Given the description of an element on the screen output the (x, y) to click on. 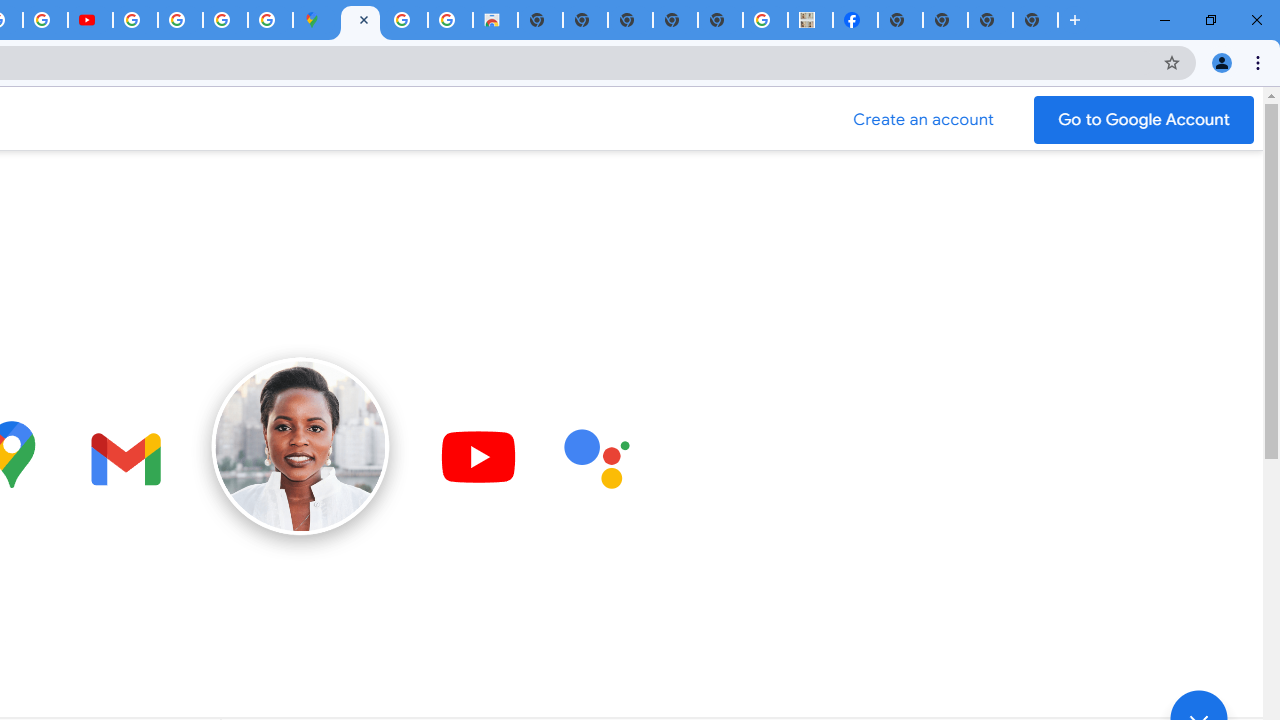
How Chrome protects your passwords - Google Chrome Help (134, 20)
Chrome (1260, 62)
You (1221, 62)
Google Maps (315, 20)
Bookmark this tab (1171, 62)
Restore (1210, 20)
New Tab (1035, 20)
